Given the description of an element on the screen output the (x, y) to click on. 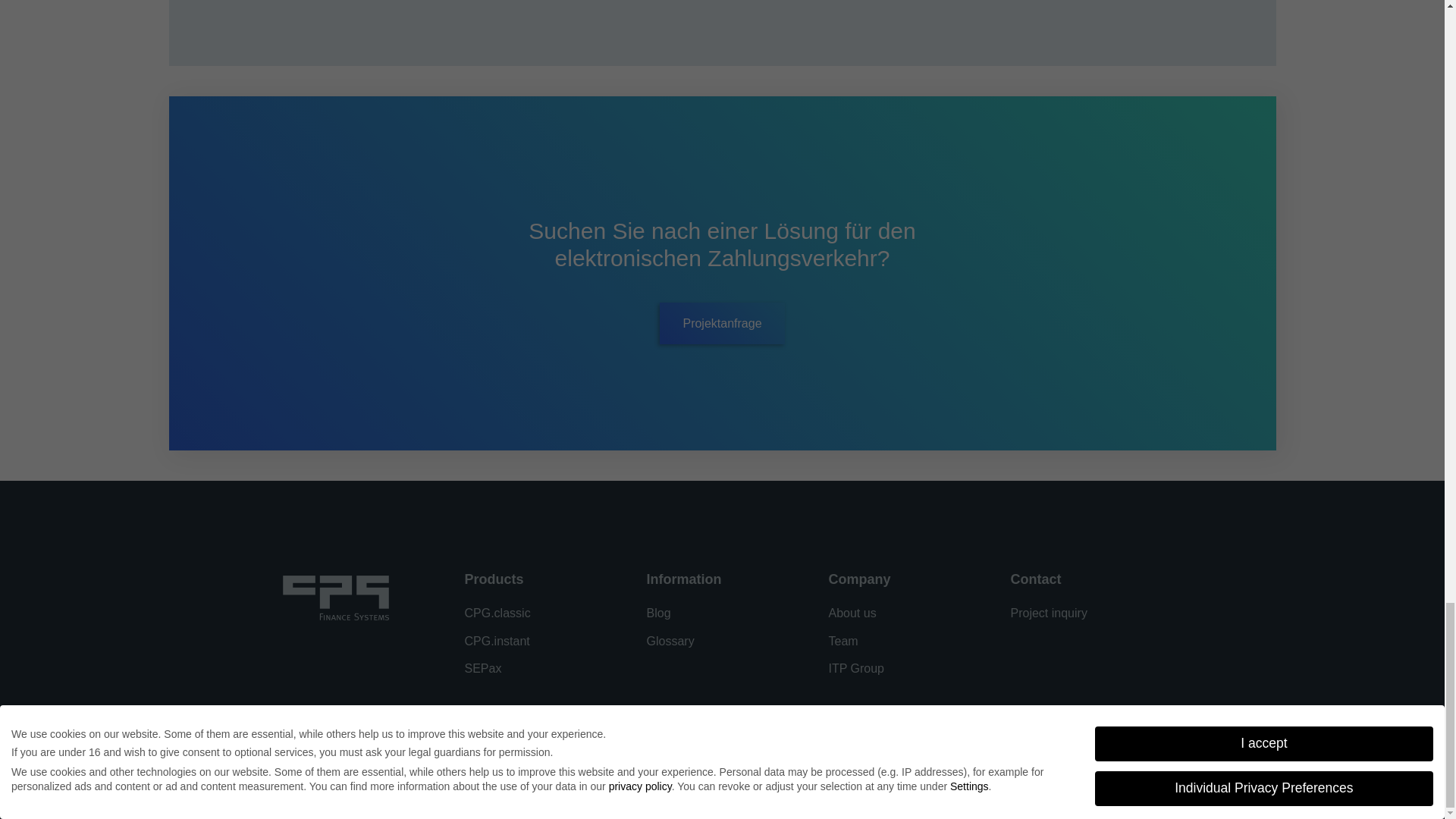
Team (903, 645)
CPG.classic (539, 616)
Blog (721, 616)
Project inquiry (1048, 612)
Glossary (721, 645)
ITP Group (903, 672)
SEPax (539, 672)
CPG-logo (335, 597)
CPG.instant (539, 645)
Projektanfrage (721, 323)
